Given the description of an element on the screen output the (x, y) to click on. 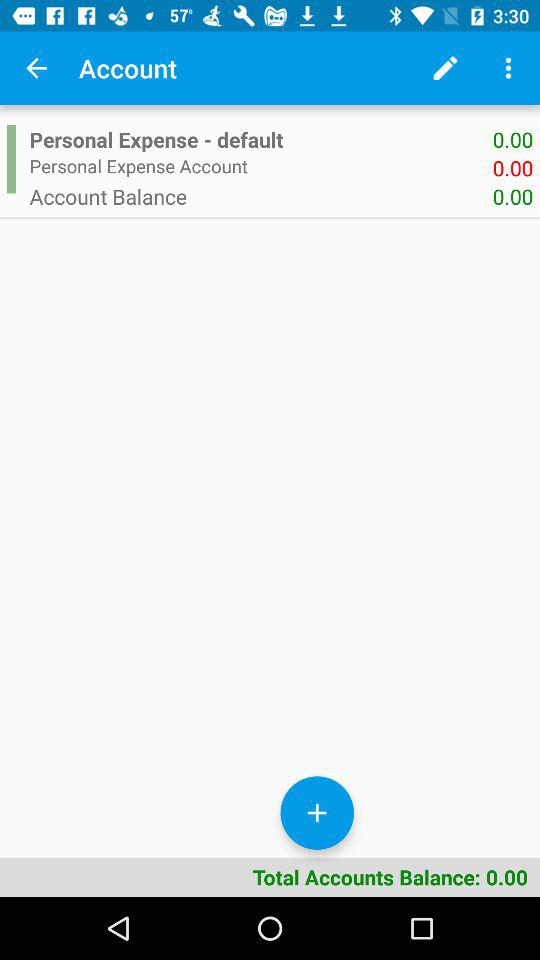
open the icon to the left of 0.00 item (260, 196)
